Given the description of an element on the screen output the (x, y) to click on. 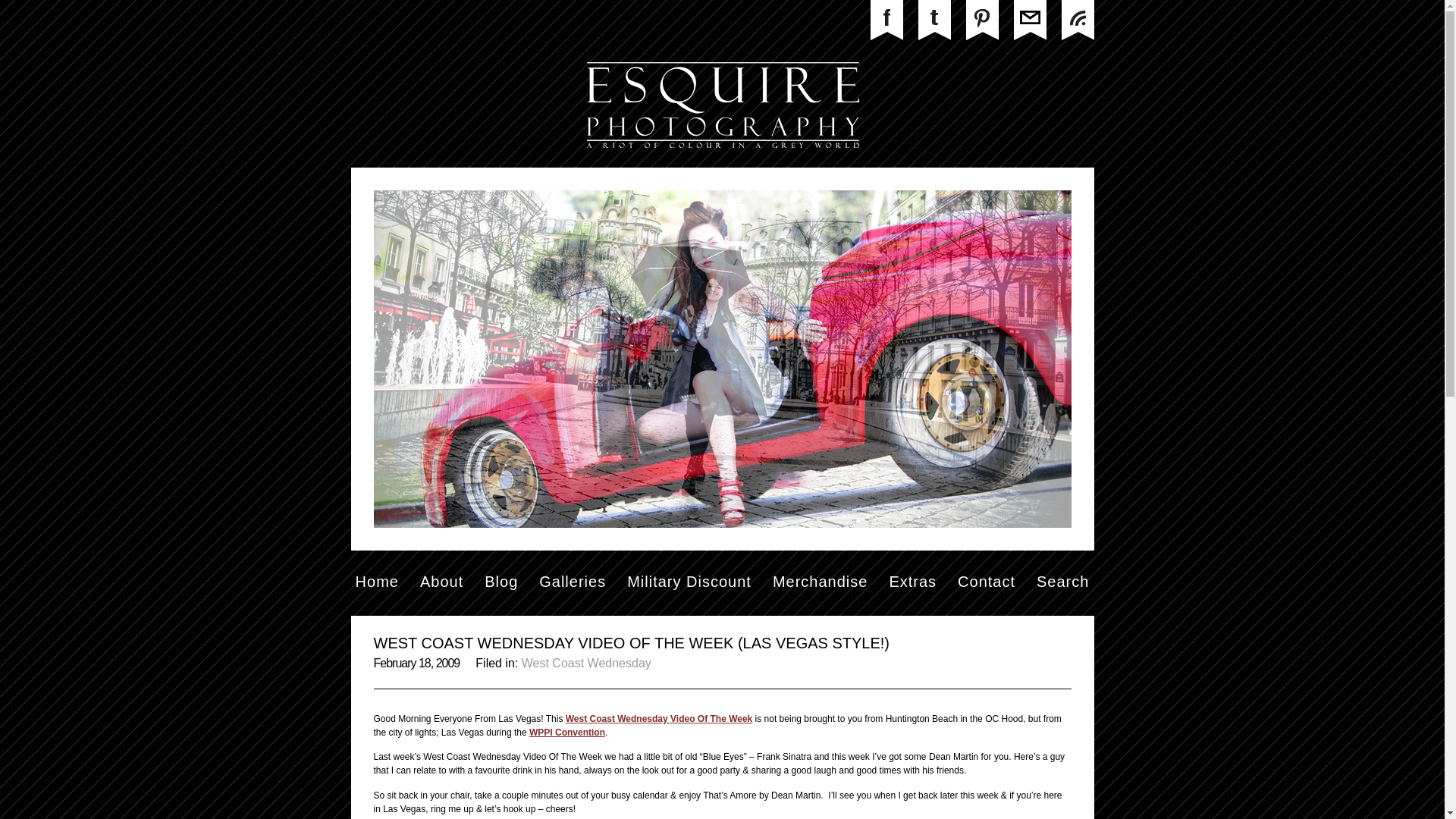
Home (376, 581)
Esquire Photography (376, 581)
Blog (501, 581)
Esquire Photography (722, 163)
About (441, 581)
